Given the description of an element on the screen output the (x, y) to click on. 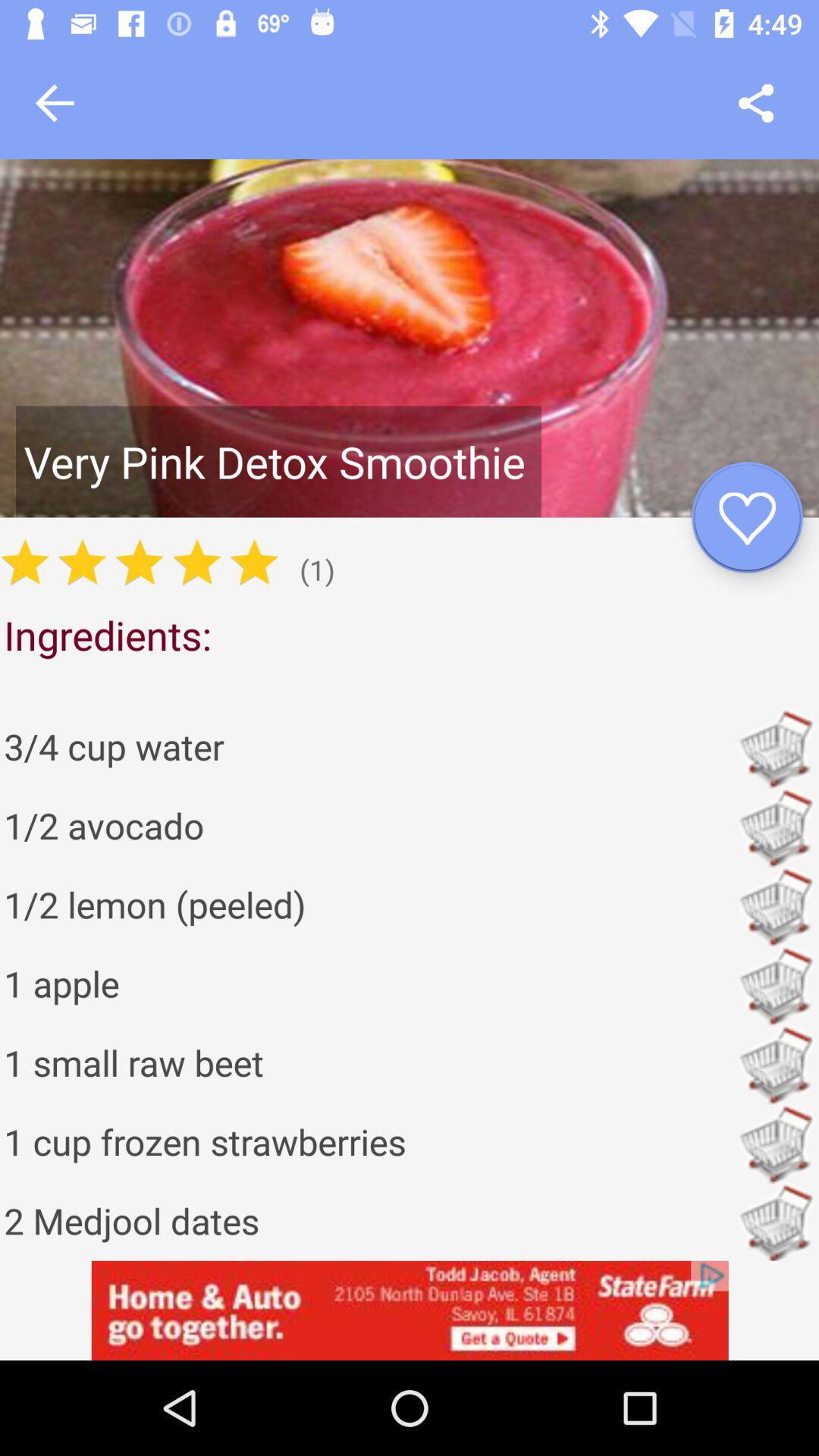
go back (54, 103)
